Given the description of an element on the screen output the (x, y) to click on. 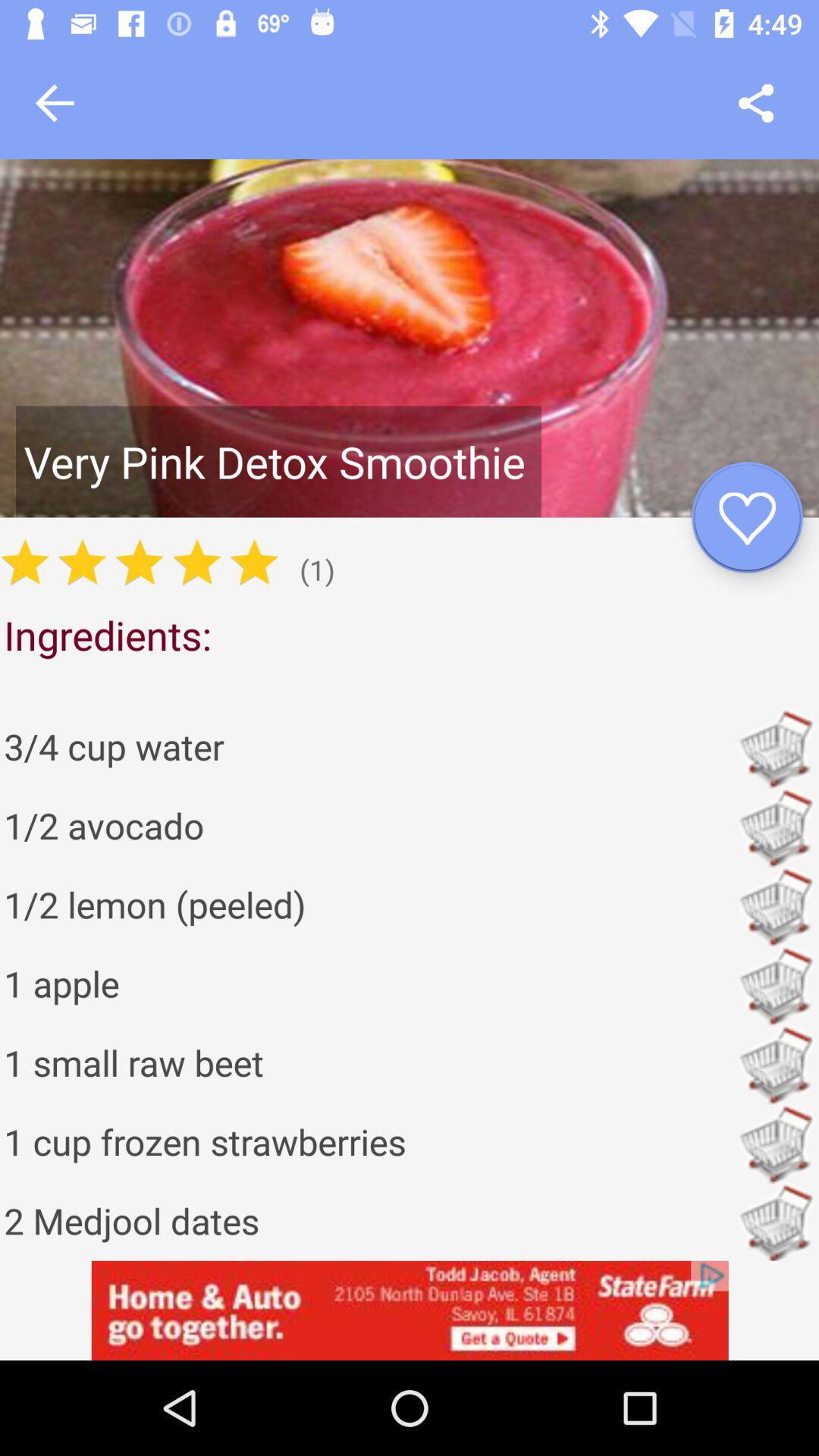
go back (54, 103)
